Given the description of an element on the screen output the (x, y) to click on. 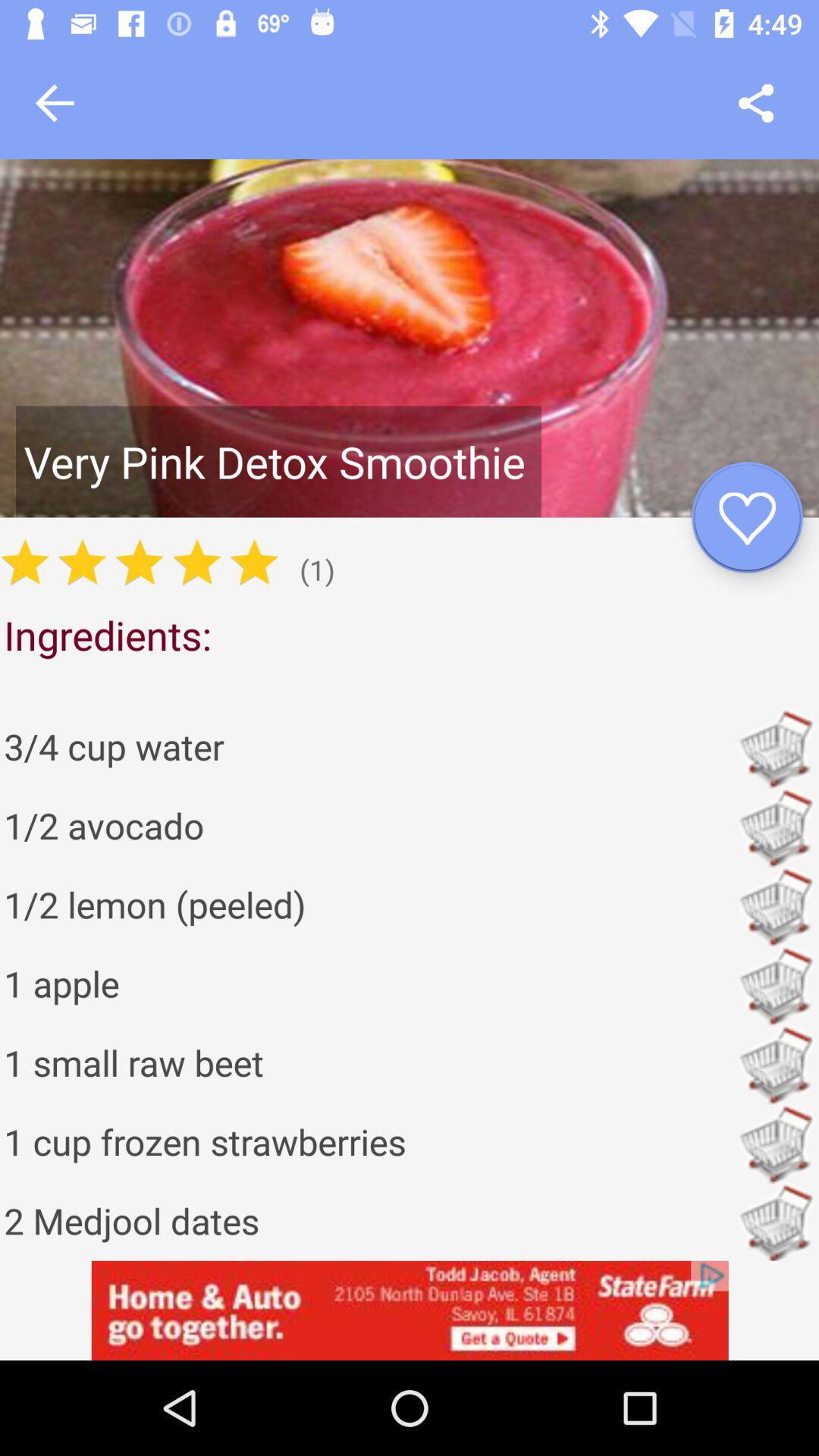
go back (54, 103)
